Given the description of an element on the screen output the (x, y) to click on. 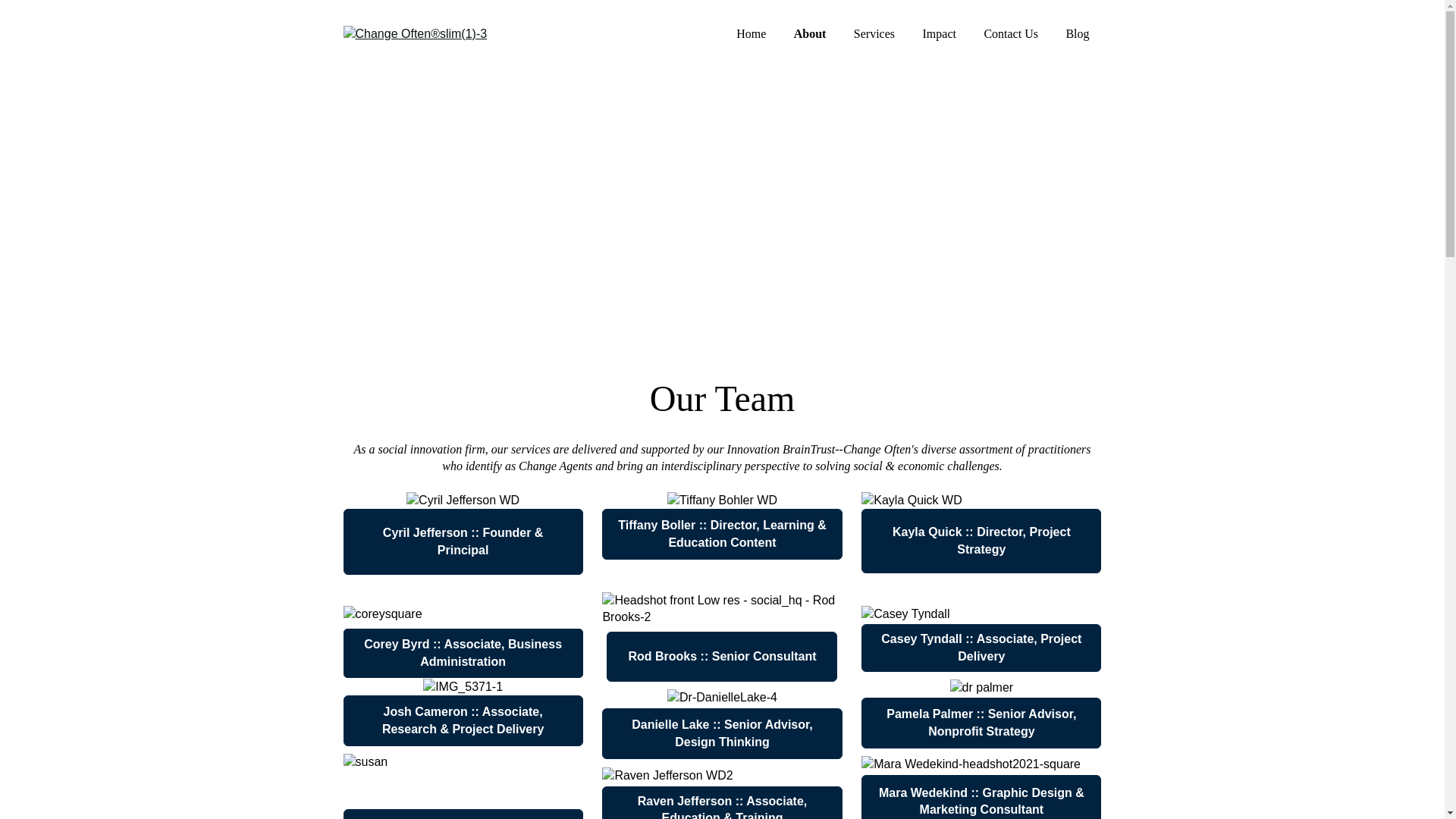
Home (750, 33)
Rod Brooks :: Senior Consultant (722, 656)
Cyril Jefferson WD (462, 500)
Raven Jefferson WD2 (667, 775)
Kayla Quick WD (910, 500)
Pamela Palmer :: Senior Advisor, Nonprofit Strategy (980, 722)
dr palmer (981, 687)
Corey Byrd :: Associate, Business Administration (462, 653)
Impact (938, 33)
Services (874, 33)
Casey Tyndall :: Associate, Project Delivery (980, 647)
Susan Stemples Harman :: Senior Advisor, Research Strategy (462, 814)
Casey Tyndall (905, 614)
Dr-DanielleLake-4 (721, 697)
Tiffany Bohler WD (721, 500)
